Given the description of an element on the screen output the (x, y) to click on. 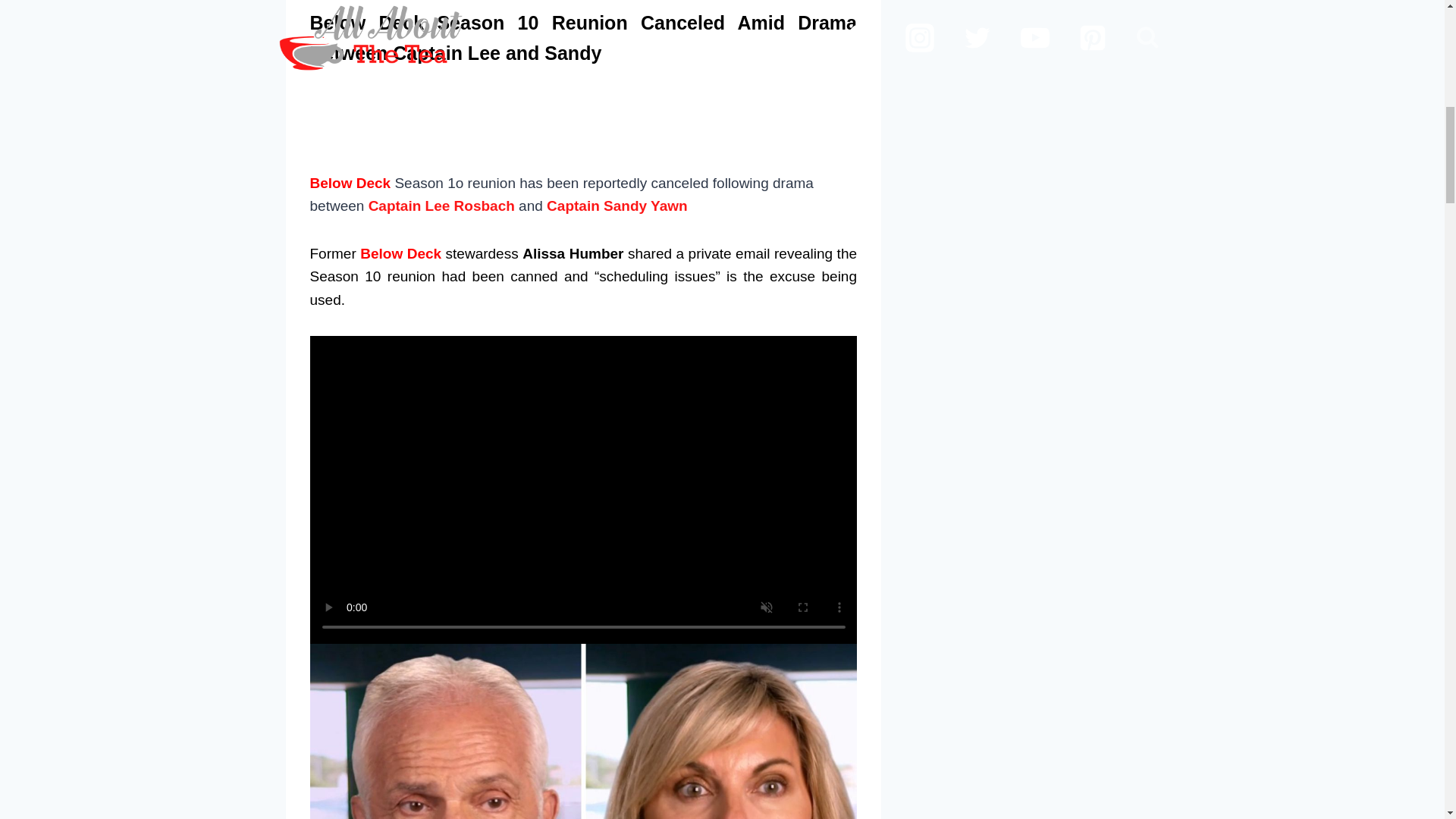
Captain Lee Rosbach (441, 205)
Below Deck (349, 182)
Below Deck (400, 253)
Captain Sandy Yawn (617, 205)
